Given the description of an element on the screen output the (x, y) to click on. 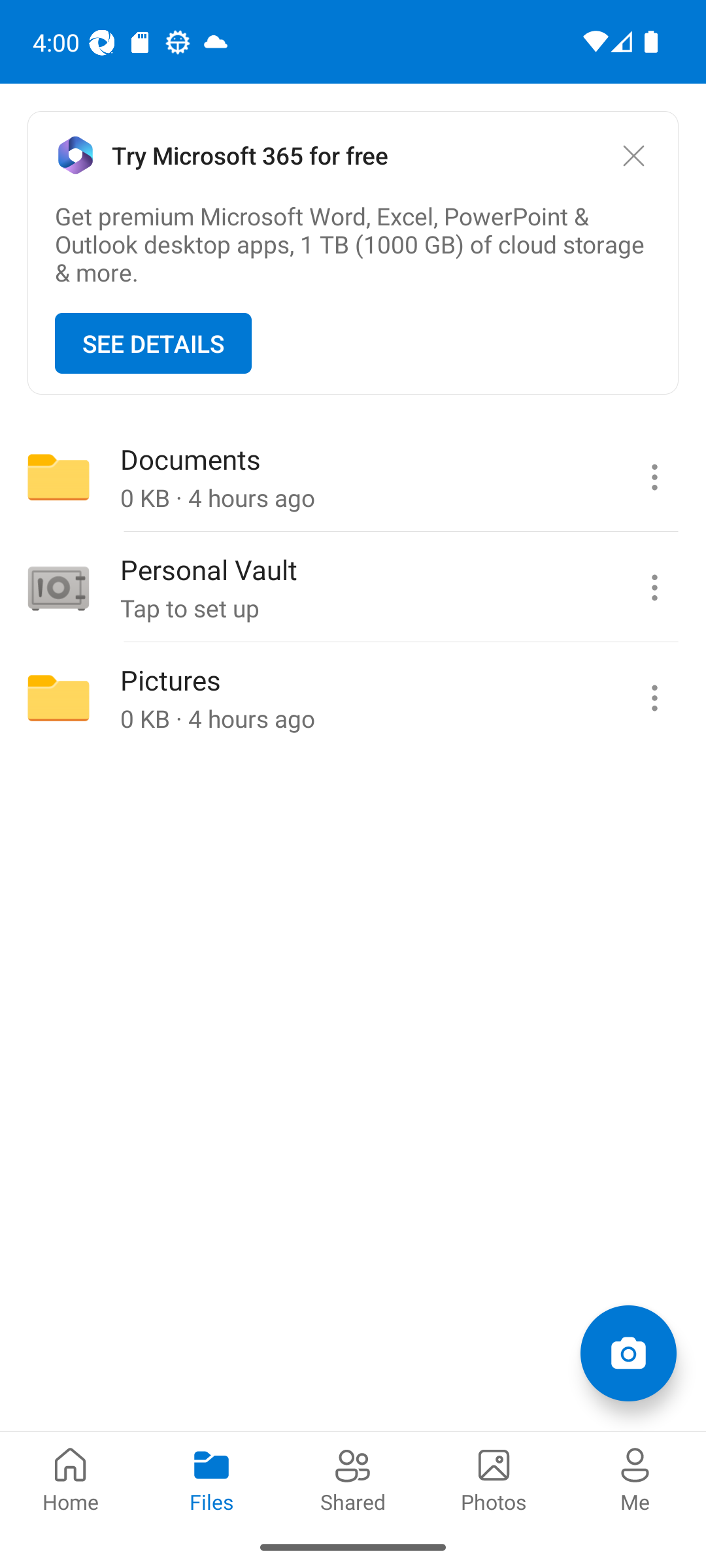
Close (633, 155)
SEE DETAILS (153, 343)
Documents commands (654, 477)
Personal Vault commands (654, 587)
Pictures commands (654, 697)
Add items Scan (628, 1352)
Home pivot Home (70, 1478)
Shared pivot Shared (352, 1478)
Photos pivot Photos (493, 1478)
Me pivot Me (635, 1478)
